Given the description of an element on the screen output the (x, y) to click on. 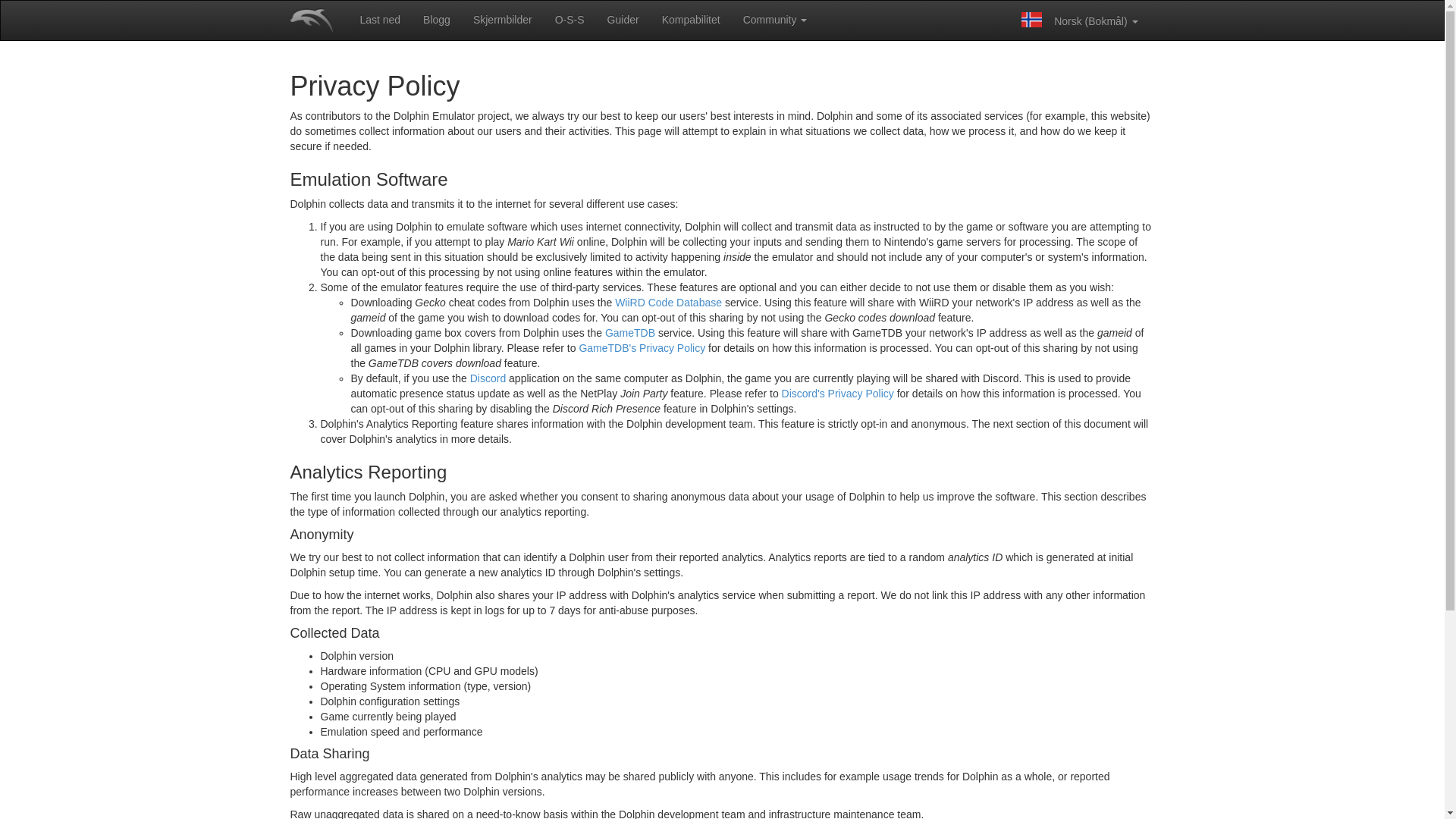
Blogg (436, 19)
Guider (622, 19)
Community (775, 19)
GameTDB (630, 332)
Last ned (379, 19)
O-S-S (569, 19)
Kompabilitet (691, 19)
Skjermbilder (502, 19)
WiiRD Code Database (668, 302)
